Given the description of an element on the screen output the (x, y) to click on. 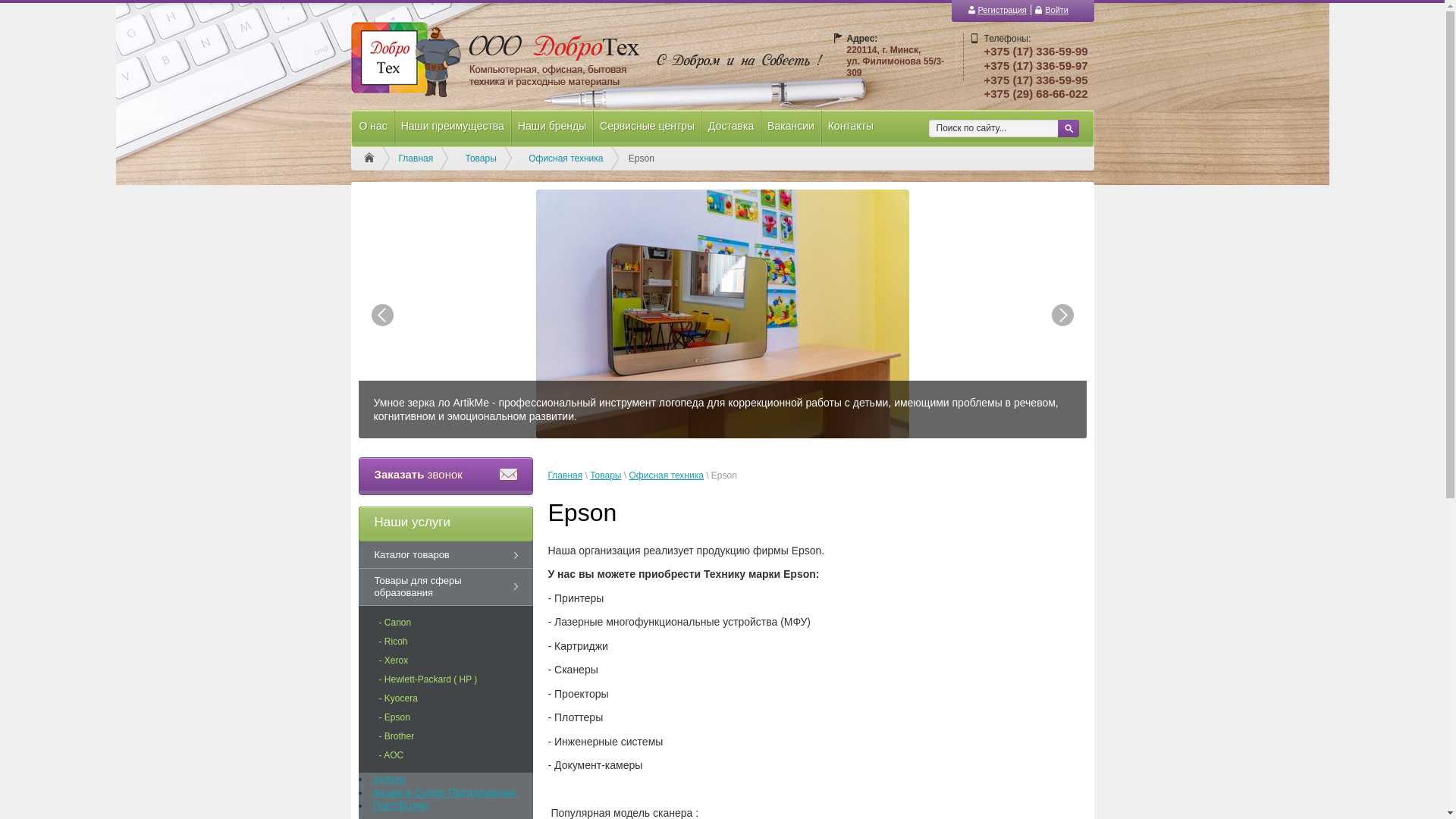
- Canon Element type: text (410, 622)
- Kyocera Element type: text (413, 698)
- AOC Element type: text (406, 755)
- Xerox Element type: text (409, 660)
- Brother Element type: text (412, 736)
- Hewlett-Packard ( HP ) Element type: text (443, 679)
- Epson Element type: text (409, 717)
Prev Element type: text (382, 314)
- Ricoh Element type: text (408, 641)
Next Element type: text (1061, 314)
